Given the description of an element on the screen output the (x, y) to click on. 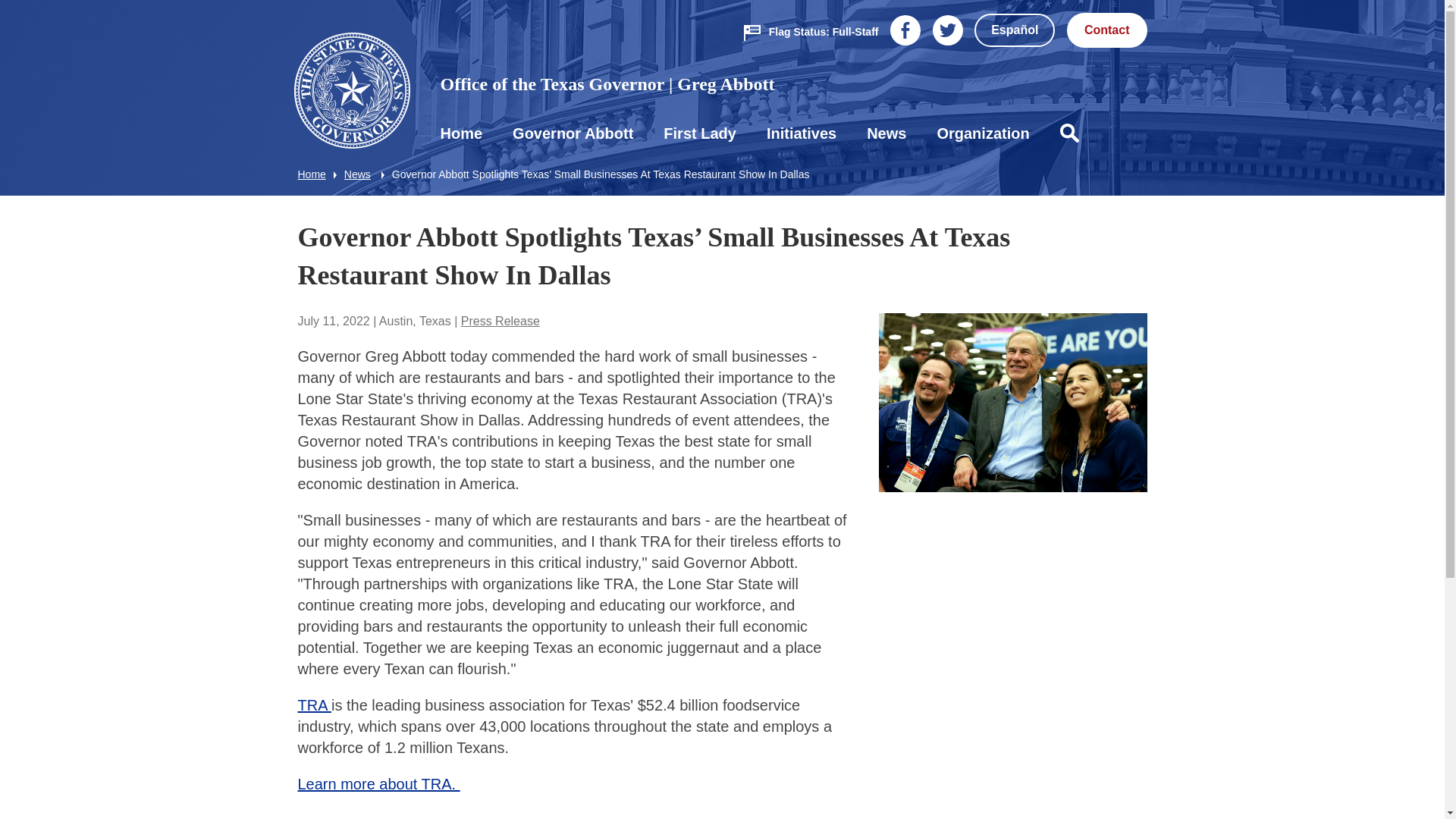
Twitter (947, 33)
Governor Abbott (572, 133)
Flag Status Full-Staff (811, 31)
Facebook (904, 33)
Initiatives (801, 133)
Contact (1107, 30)
Home (461, 133)
First Lady (699, 133)
